Given the description of an element on the screen output the (x, y) to click on. 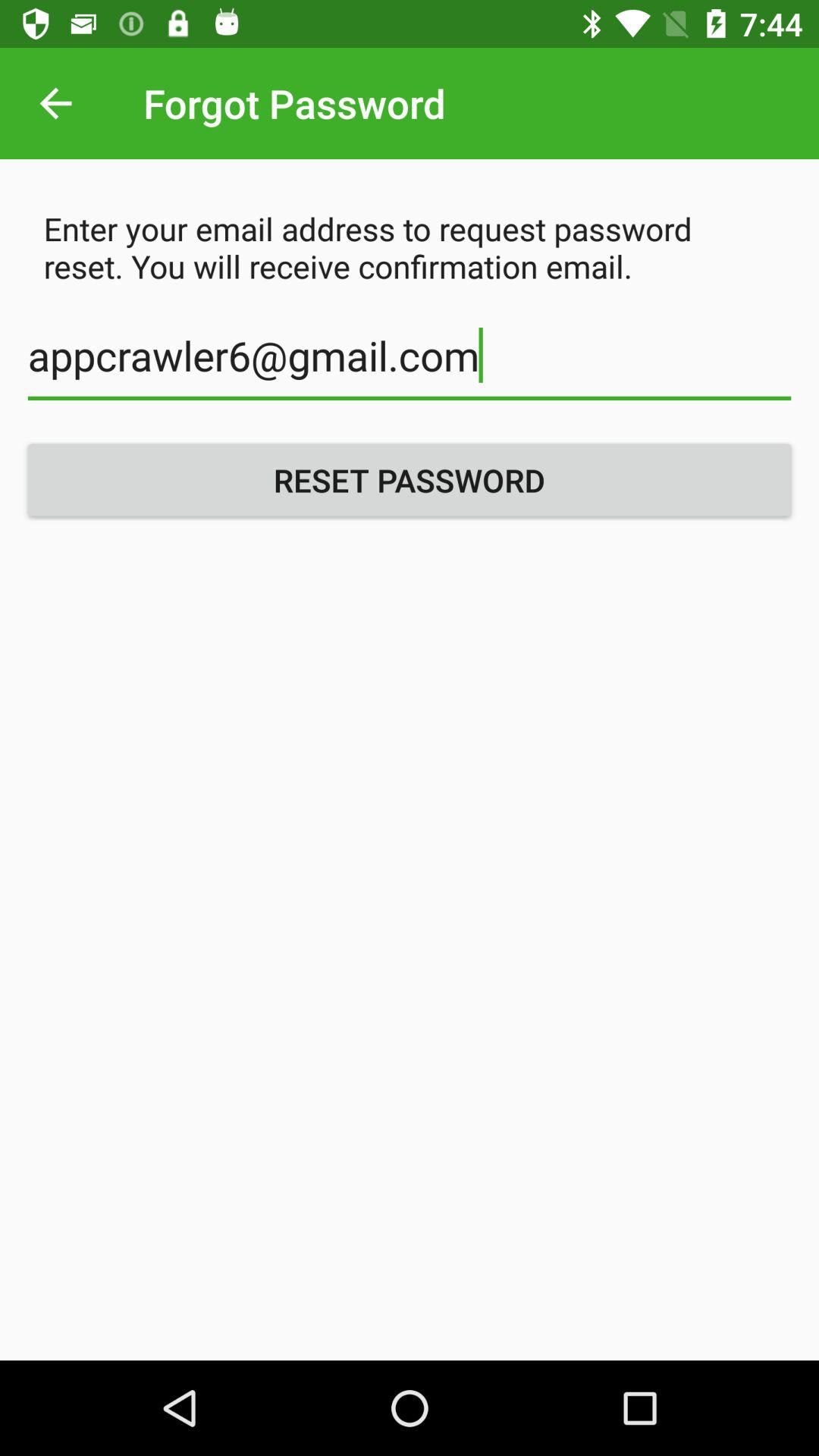
click the item to the left of forgot password icon (55, 103)
